Given the description of an element on the screen output the (x, y) to click on. 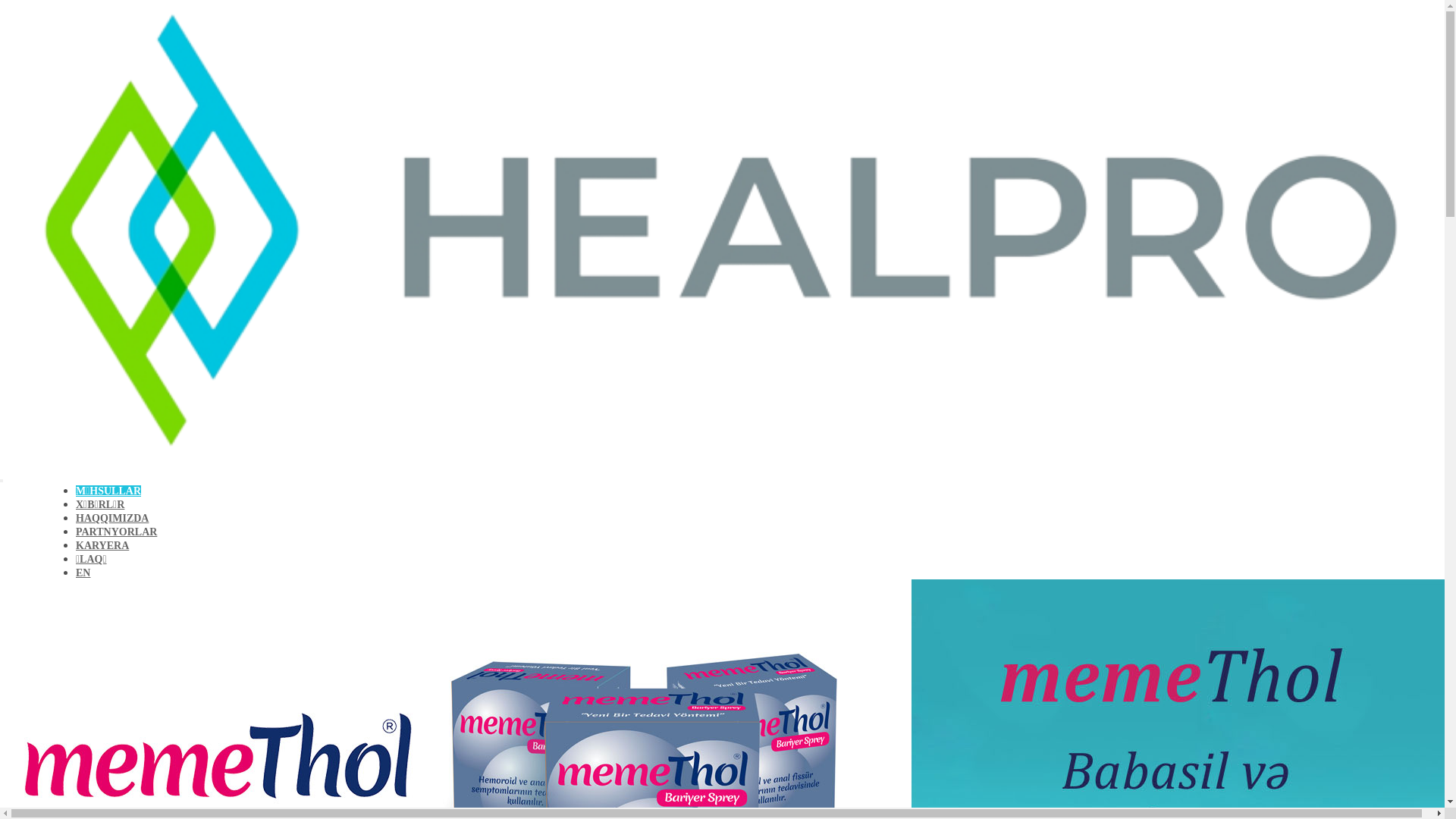
EN Element type: text (82, 572)
KARYERA Element type: text (101, 545)
PARTNYORLAR Element type: text (115, 531)
HAQQIMIZDA Element type: text (111, 518)
